Given the description of an element on the screen output the (x, y) to click on. 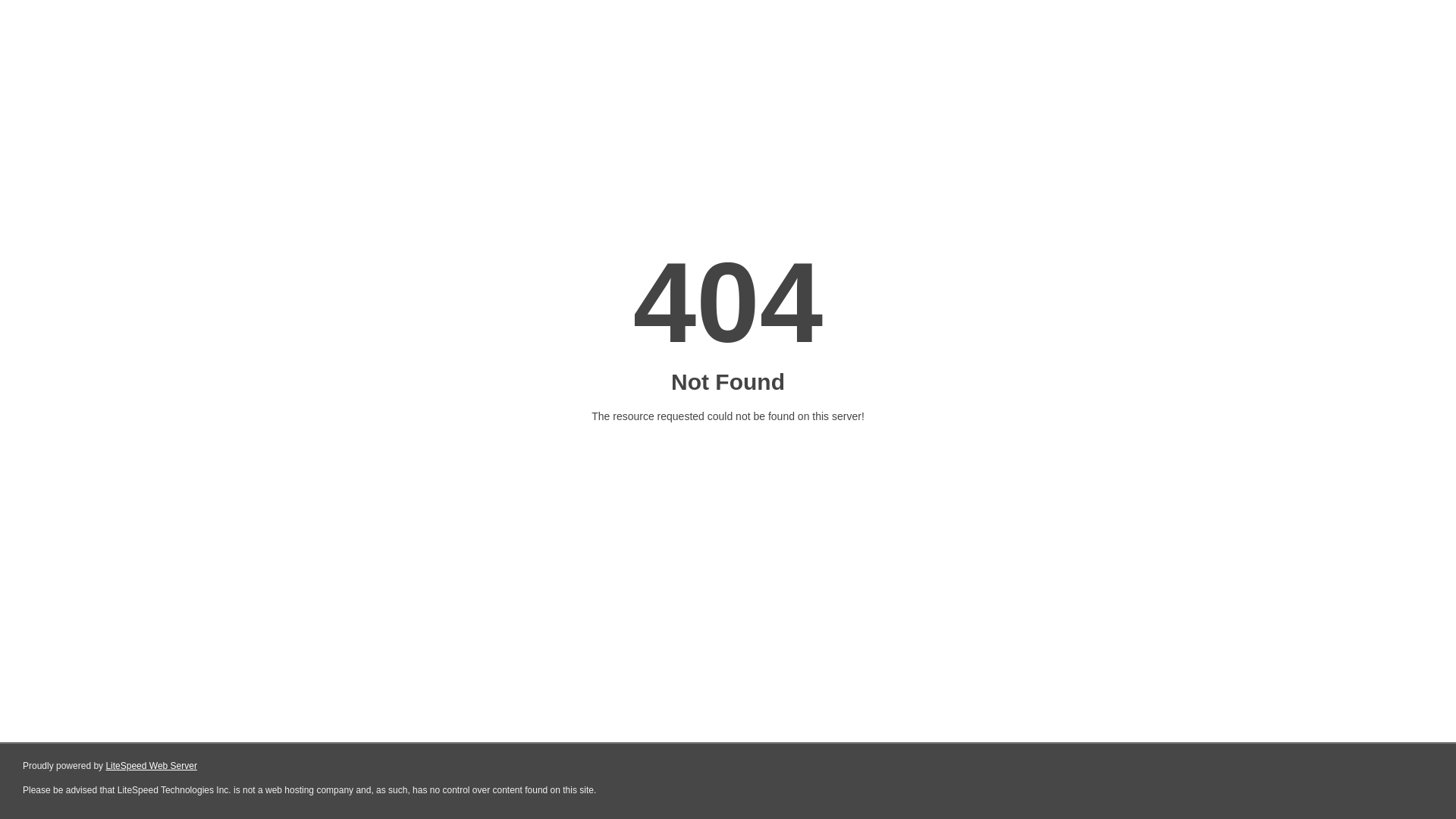
LiteSpeed Web Server Element type: text (151, 765)
